Given the description of an element on the screen output the (x, y) to click on. 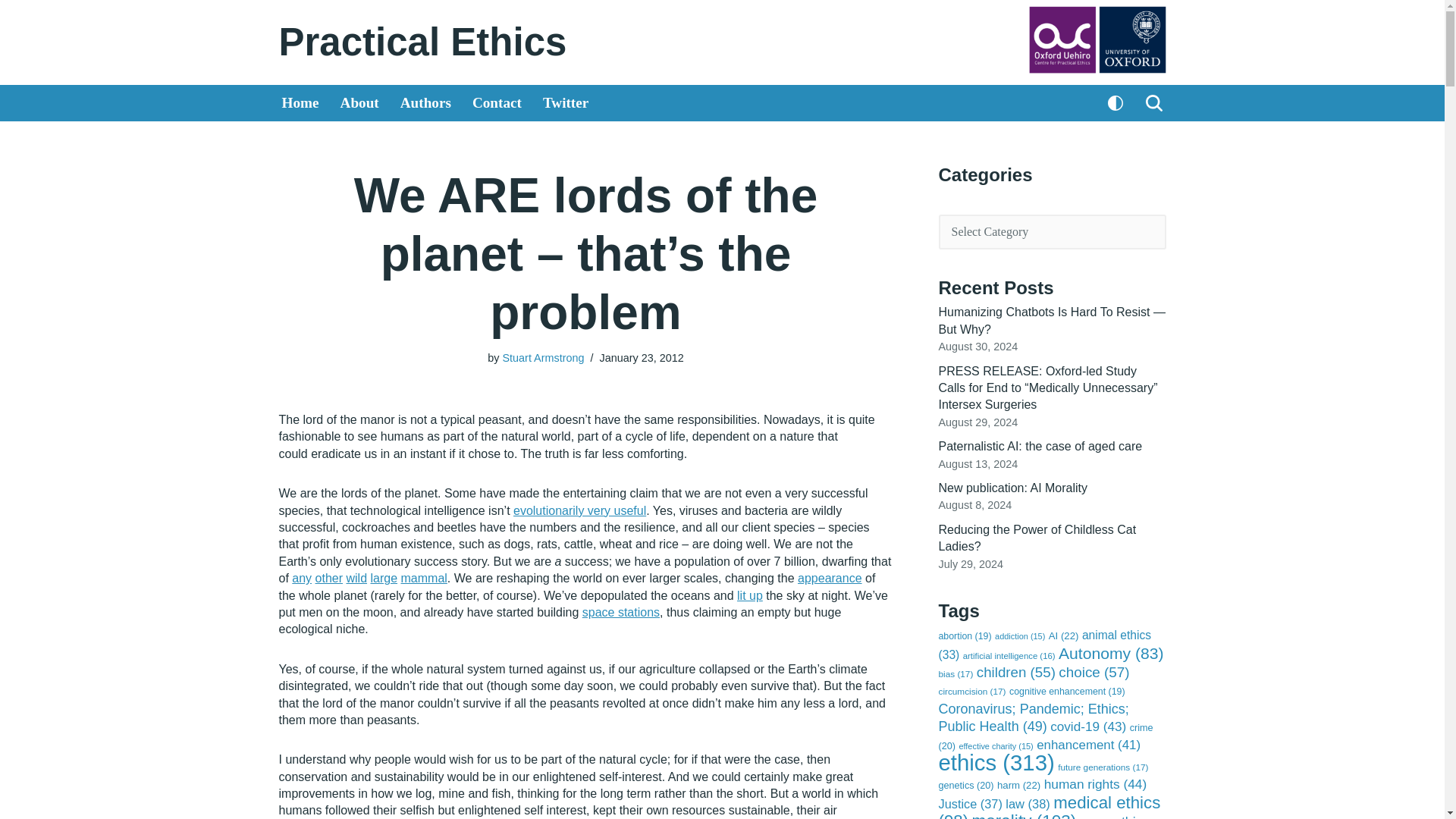
appearance (829, 577)
any (301, 577)
Practical Ethics (423, 41)
lit up (749, 594)
Stuart Armstrong (542, 357)
mammal (423, 577)
space stations (620, 612)
Home (300, 102)
Authors (425, 102)
Posts by Stuart Armstrong (542, 357)
